Given the description of an element on the screen output the (x, y) to click on. 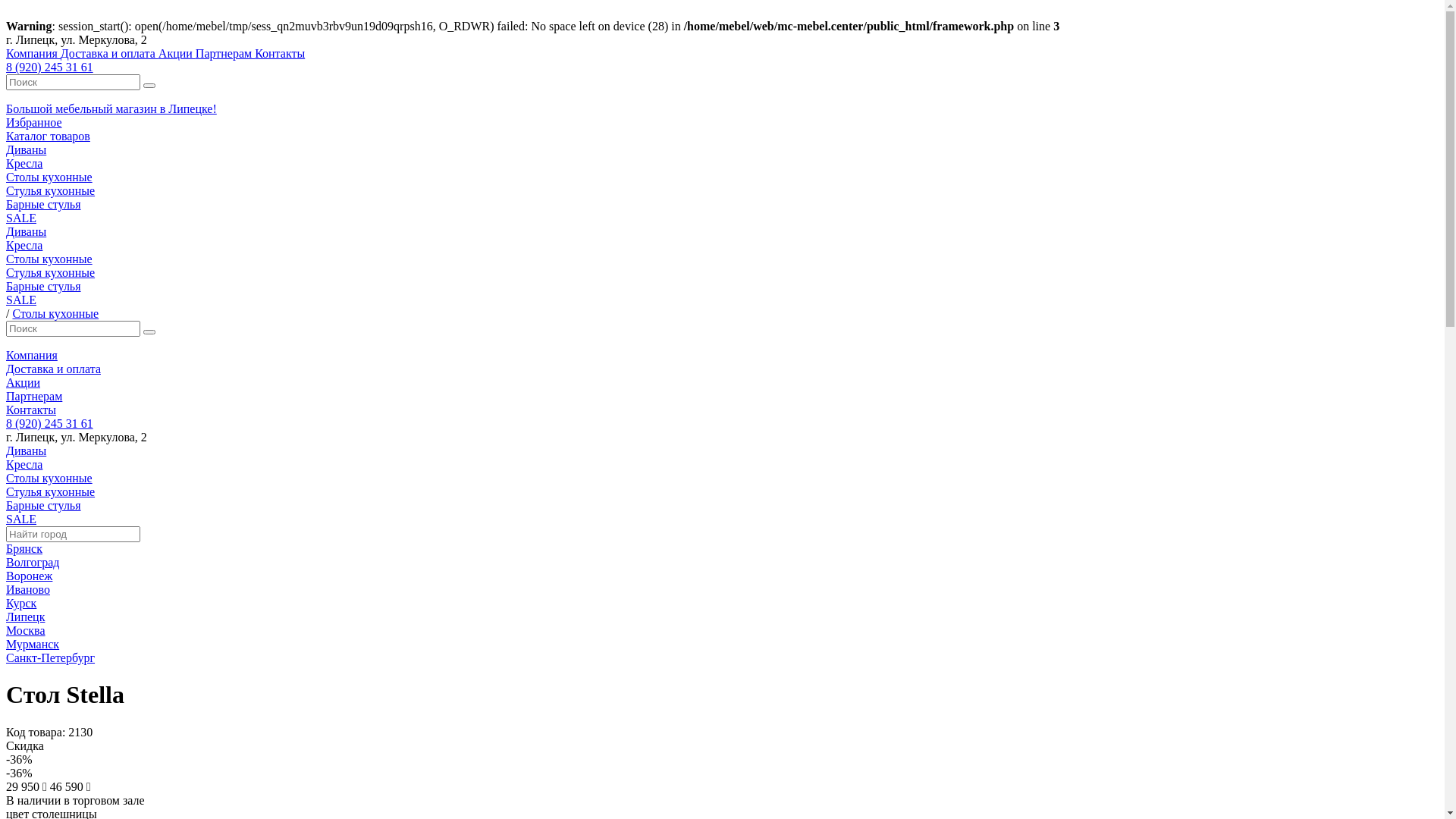
8 (920) 245 31 61 Element type: text (49, 66)
SALE Element type: text (21, 217)
SALE Element type: text (21, 518)
8 (920) 245 31 61 Element type: text (49, 423)
SALE Element type: text (21, 299)
